Given the description of an element on the screen output the (x, y) to click on. 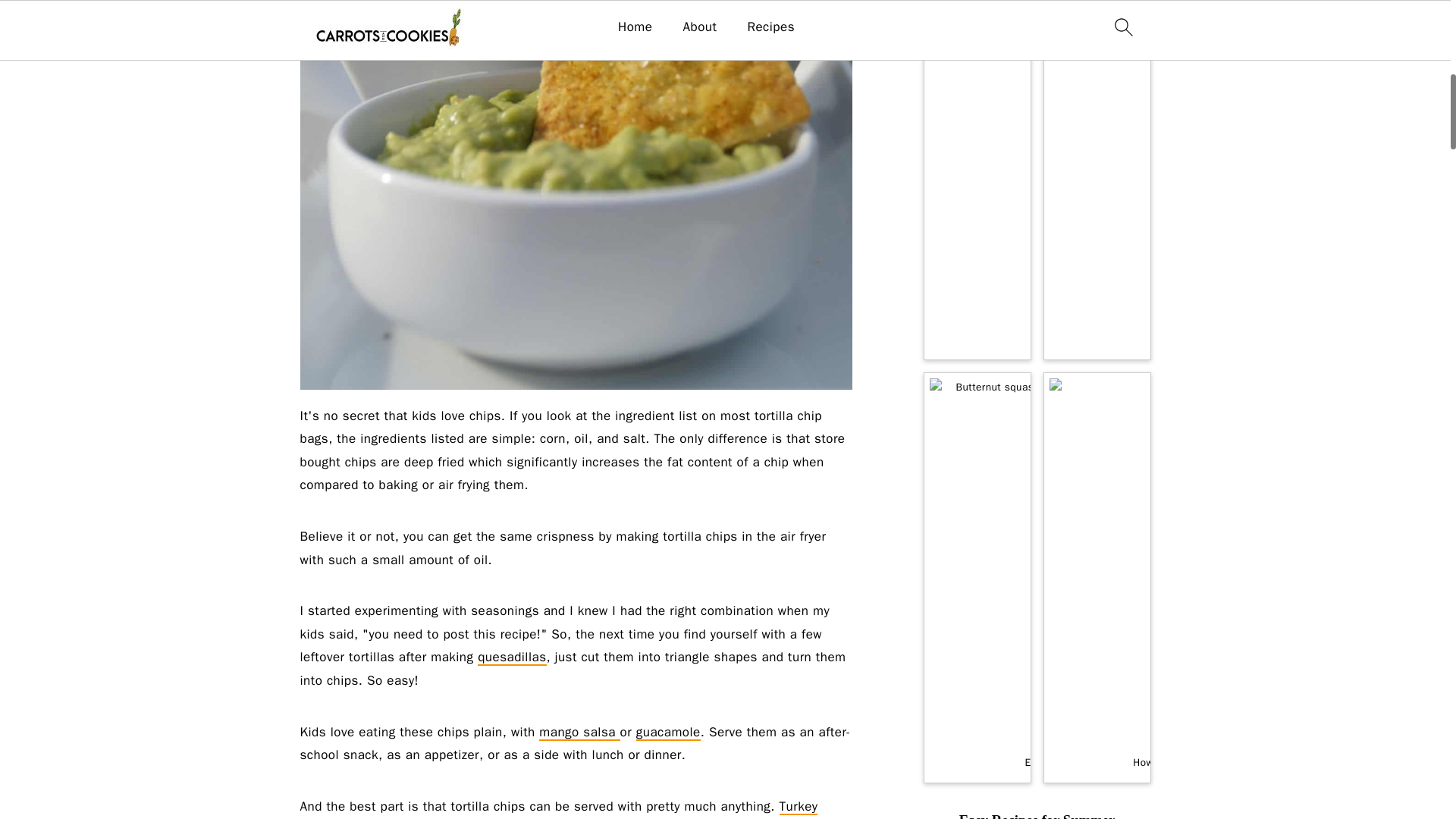
Turkey tacos (558, 808)
guacamole (668, 732)
quesadillas (511, 657)
mango salsa (579, 732)
